Given the description of an element on the screen output the (x, y) to click on. 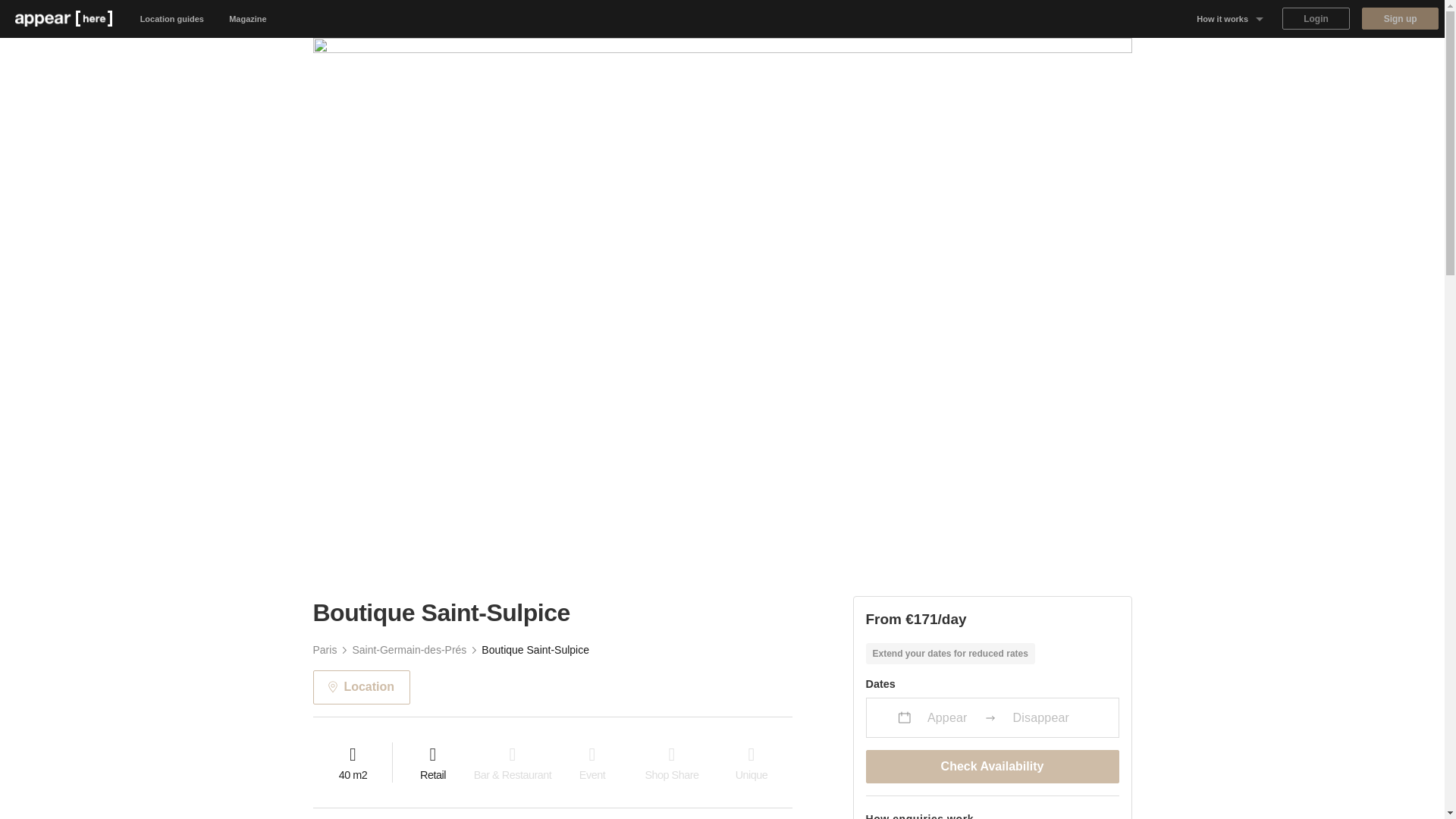
Magazine (247, 18)
Location guides (172, 18)
Why Appear Here (1230, 56)
How it works (1230, 18)
